Given the description of an element on the screen output the (x, y) to click on. 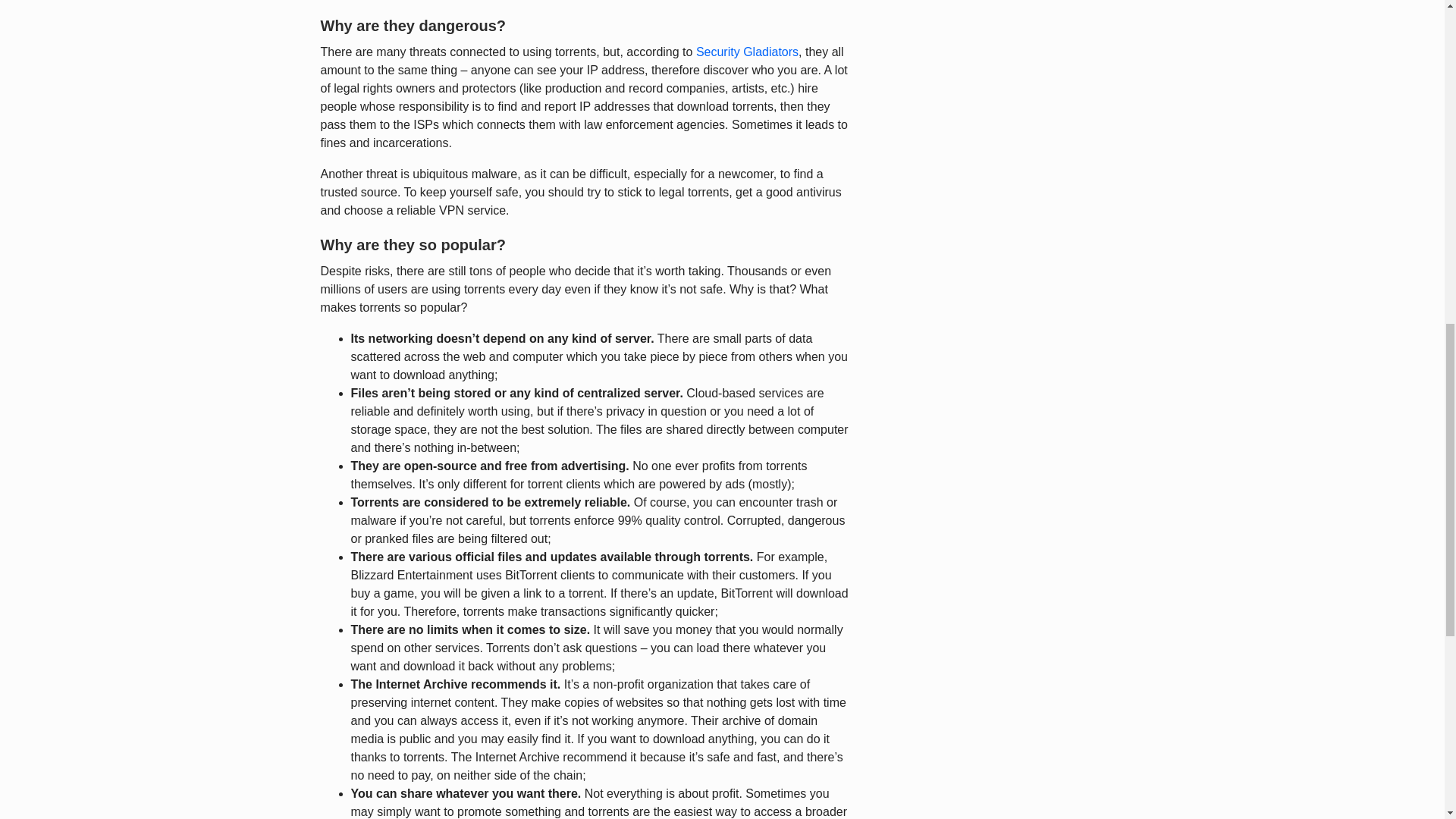
Security Gladiators (746, 51)
